Given the description of an element on the screen output the (x, y) to click on. 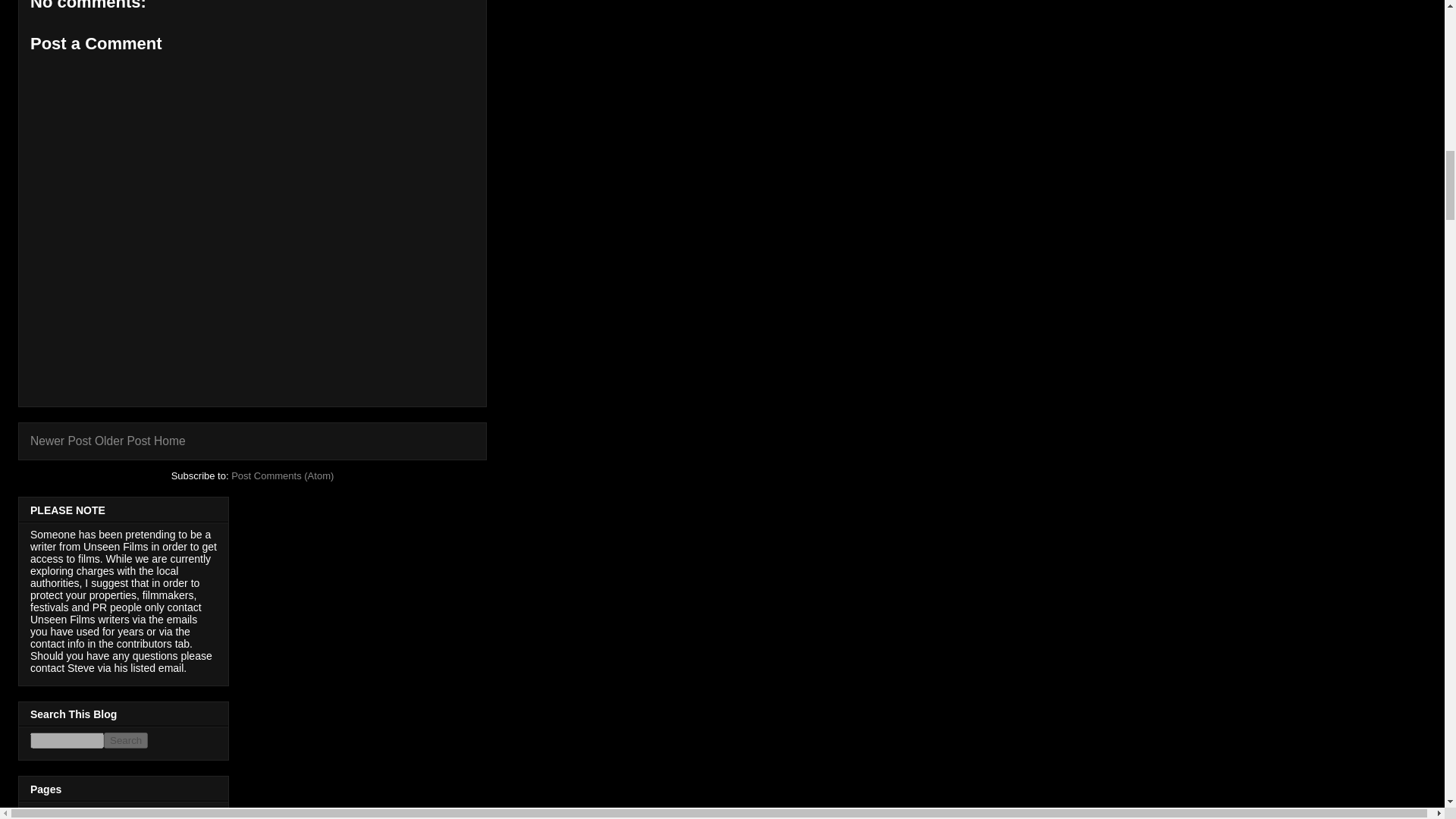
Search (125, 740)
search (66, 740)
Newer Post (60, 440)
search (125, 740)
Older Post (122, 440)
Home (44, 812)
Older Post (122, 440)
Search (125, 740)
Search (125, 740)
Newer Post (60, 440)
Home (170, 440)
